Given the description of an element on the screen output the (x, y) to click on. 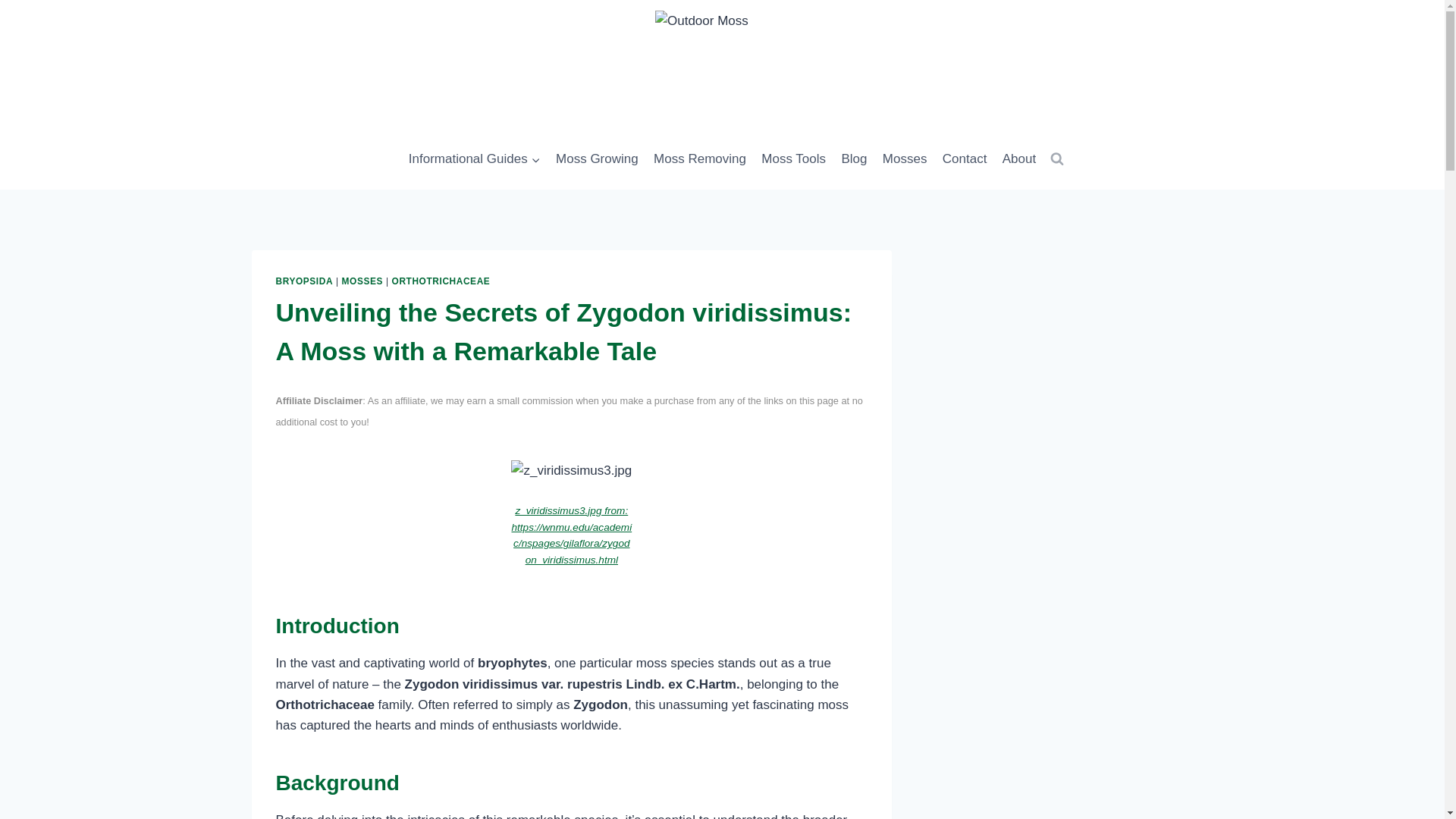
About (1018, 158)
ORTHOTRICHACEAE (440, 281)
BRYOPSIDA (304, 281)
Moss Tools (793, 158)
Contact (964, 158)
Moss Removing (700, 158)
MOSSES (362, 281)
Informational Guides (474, 158)
Blog (853, 158)
Moss Growing (597, 158)
Mosses (904, 158)
